Given the description of an element on the screen output the (x, y) to click on. 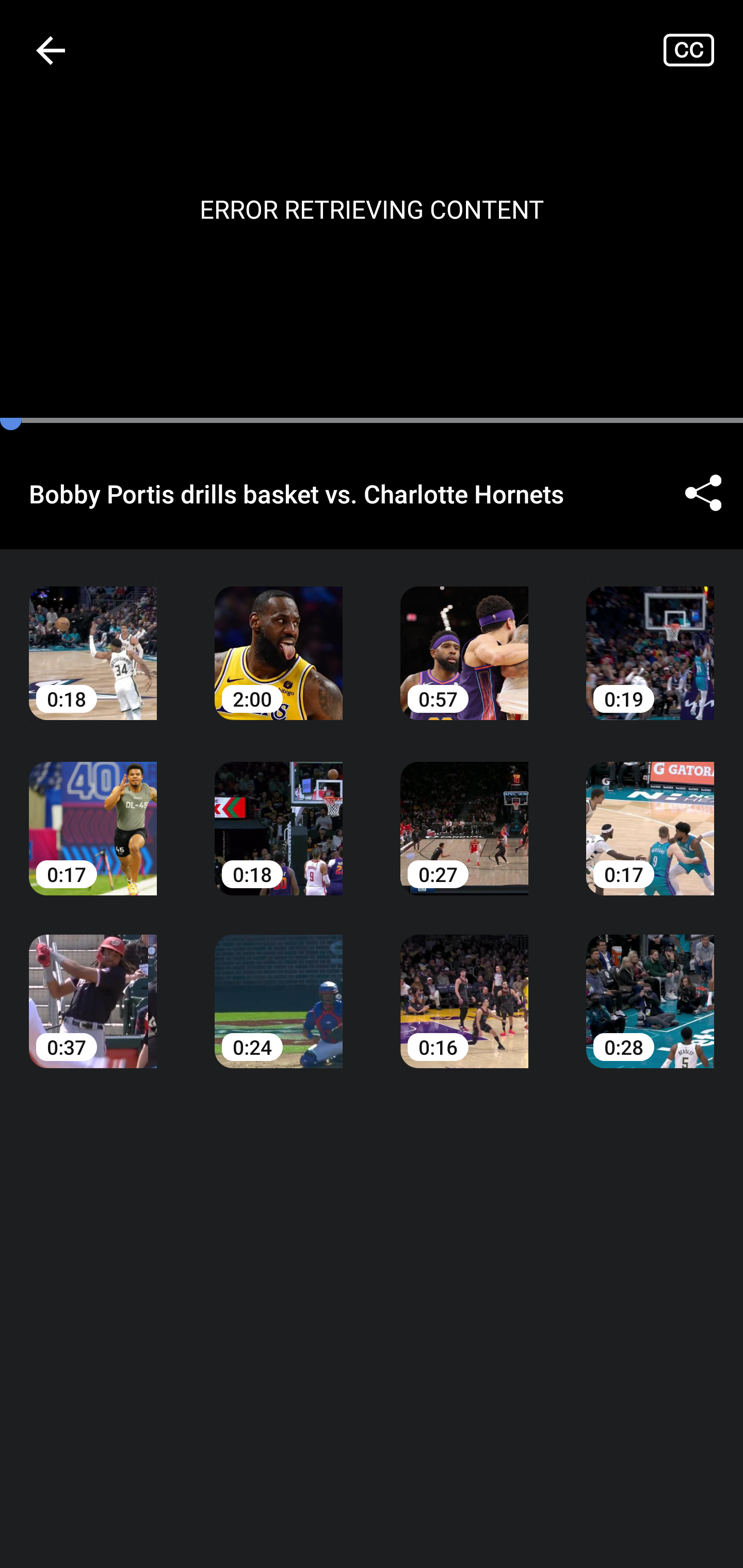
Navigate up (50, 50)
Closed captions  (703, 49)
Share © (703, 493)
0:18 (92, 637)
2:00 (278, 637)
0:57 (464, 637)
0:19 (650, 637)
0:17 (92, 813)
0:18 (278, 813)
0:27 (464, 813)
0:17 (650, 813)
0:37 (92, 987)
0:24 (278, 987)
0:16 (464, 987)
0:28 (650, 987)
